Given the description of an element on the screen output the (x, y) to click on. 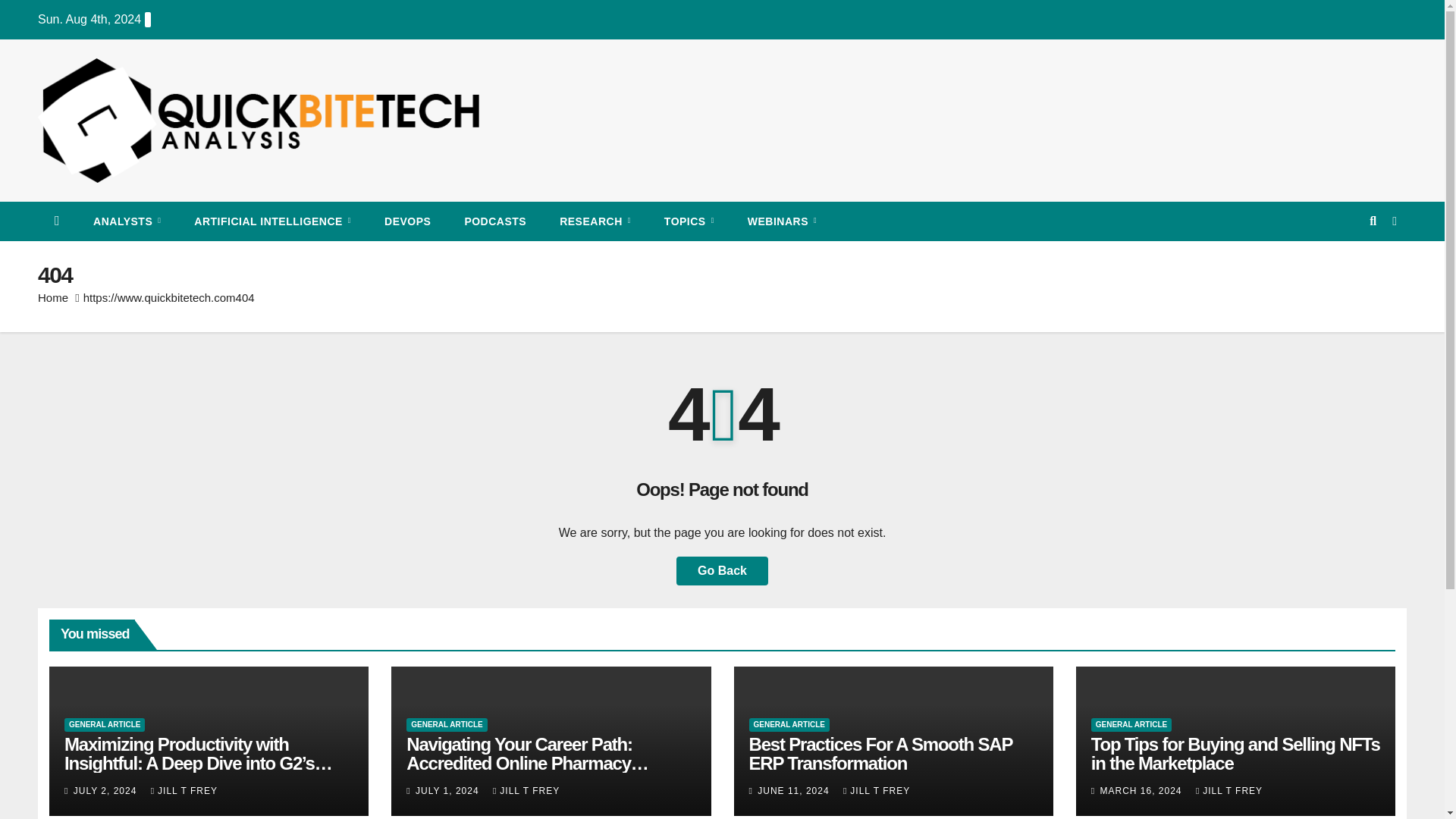
RESEARCH (595, 220)
TOPICS (688, 220)
Analysts (127, 220)
Research (595, 220)
Home (52, 297)
JULY 2, 2024 (106, 790)
Topics (688, 220)
PODCASTS (494, 220)
ARTIFICIAL INTELLIGENCE (272, 220)
JILL T FREY (183, 790)
